Given the description of an element on the screen output the (x, y) to click on. 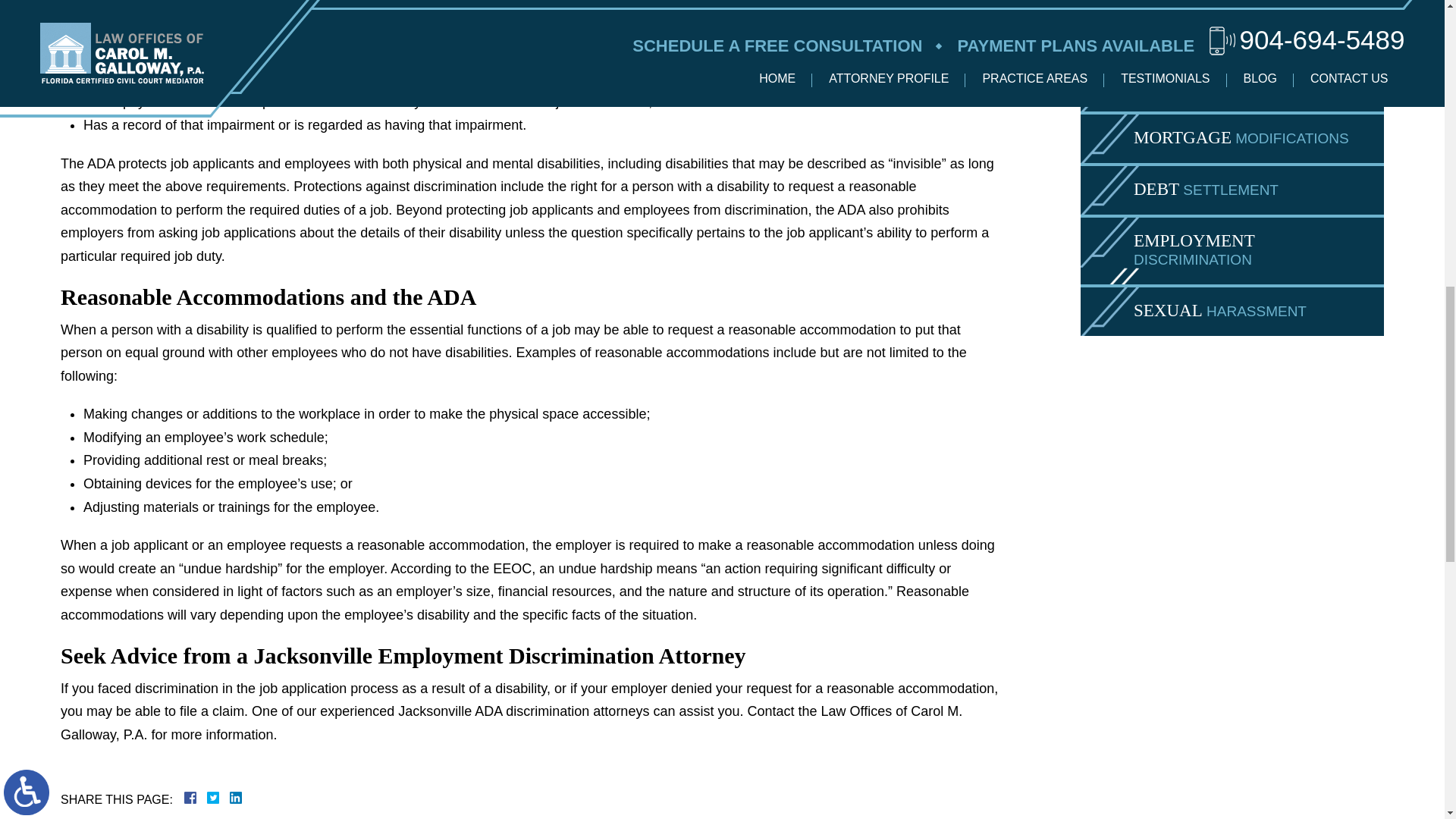
MEDICAL DEBT (1232, 37)
Facebook (208, 797)
Twitter (219, 797)
LinkedIn (229, 797)
CREDIT CARD DEBT (1232, 6)
